Given the description of an element on the screen output the (x, y) to click on. 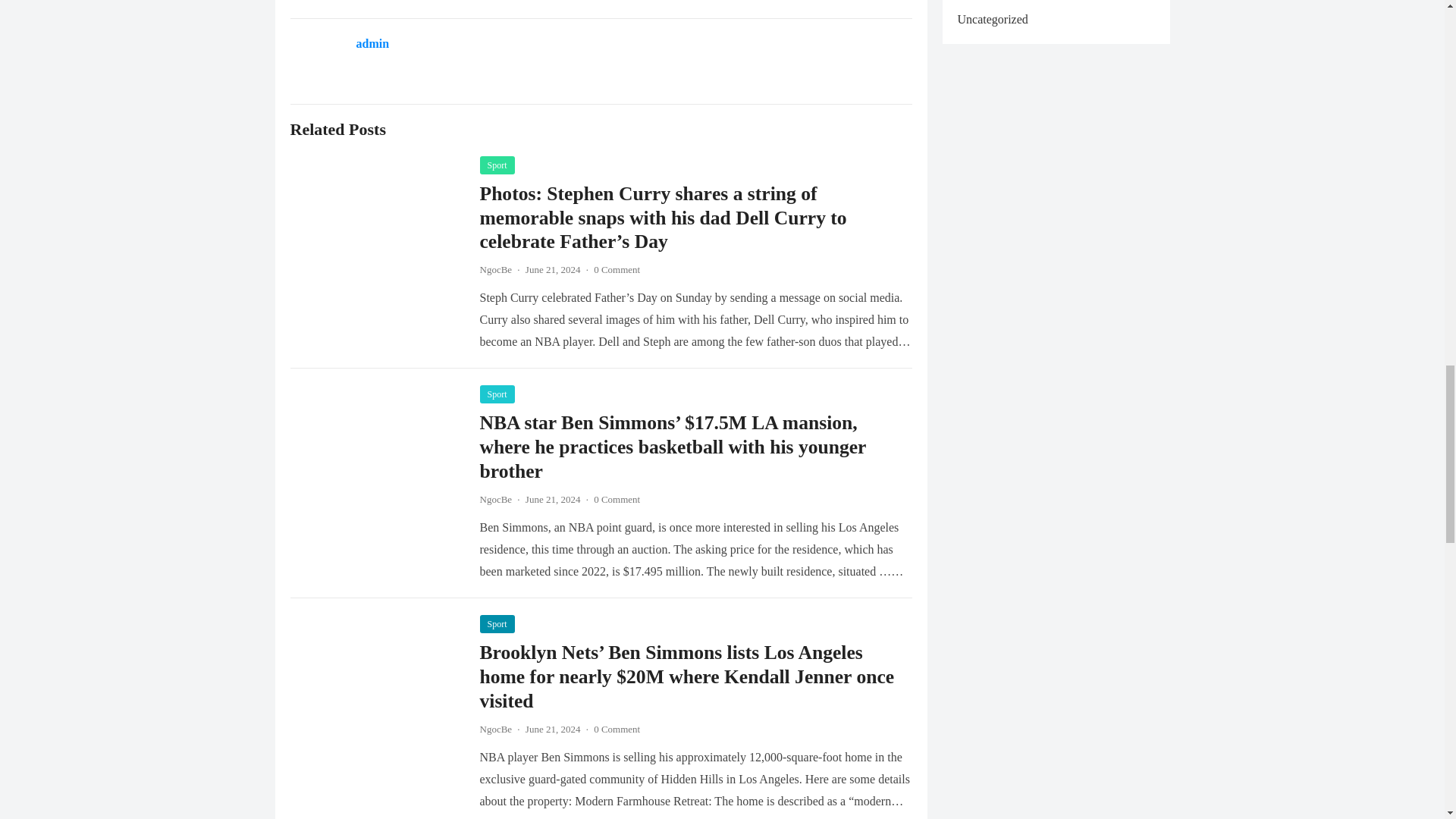
NgocBe (495, 728)
Posts by NgocBe (495, 269)
NgocBe (495, 269)
admin (373, 42)
0 Comment (617, 728)
Posts by NgocBe (495, 499)
Posts by NgocBe (495, 728)
0 Comment (617, 269)
NgocBe (495, 499)
Sport (496, 165)
Sport (496, 393)
Sport (496, 624)
0 Comment (617, 499)
